Given the description of an element on the screen output the (x, y) to click on. 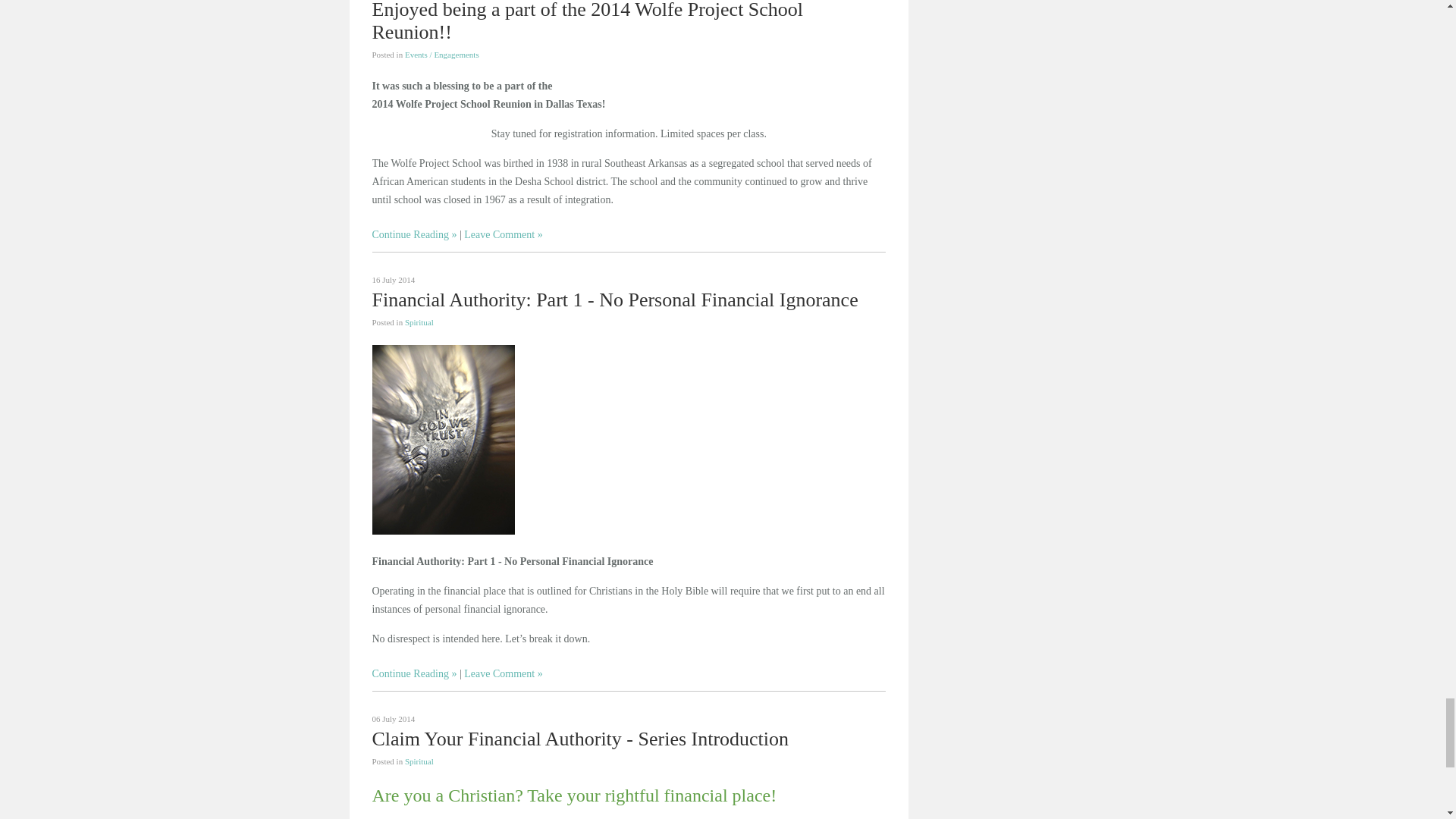
Claim Your Financial Authority -  Series Introduction (580, 739)
